Given the description of an element on the screen output the (x, y) to click on. 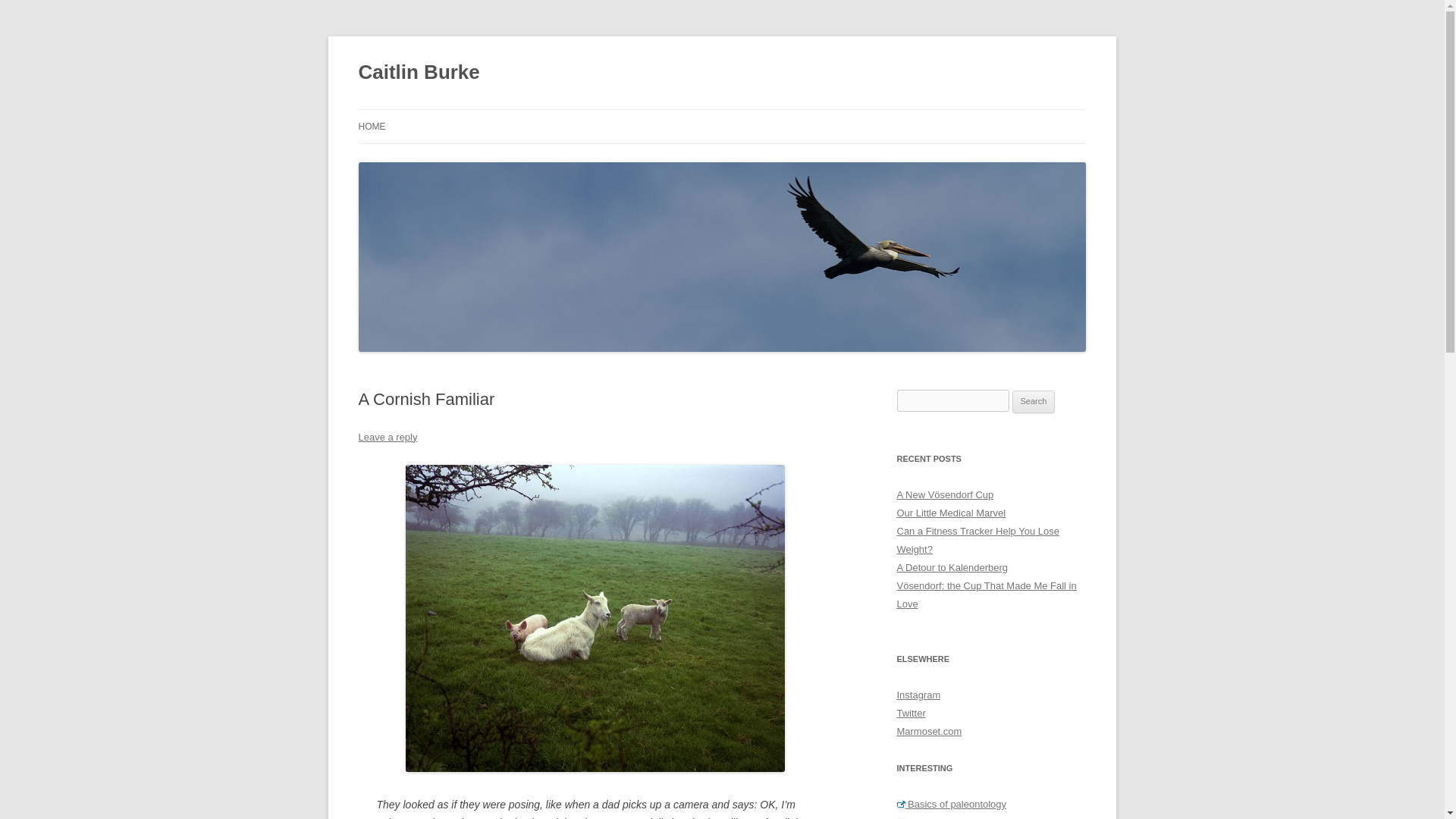
Caitlin Burke (418, 72)
Our Little Medical Marvel (951, 512)
A Cornish Familiar, by Jem Southam (595, 618)
Case study in false balance in journalism (991, 817)
Skip to content (757, 113)
Marmoset.com (928, 731)
Instagram (918, 695)
Search (1033, 401)
Can a Fitness Tracker Help You Lose Weight? (977, 540)
A Detour to Kalenderberg (951, 567)
Caitlin Burke (418, 72)
Leave a reply (387, 437)
Skip to content (757, 113)
Twitter (910, 713)
Basics of paleontology (951, 803)
